Given the description of an element on the screen output the (x, y) to click on. 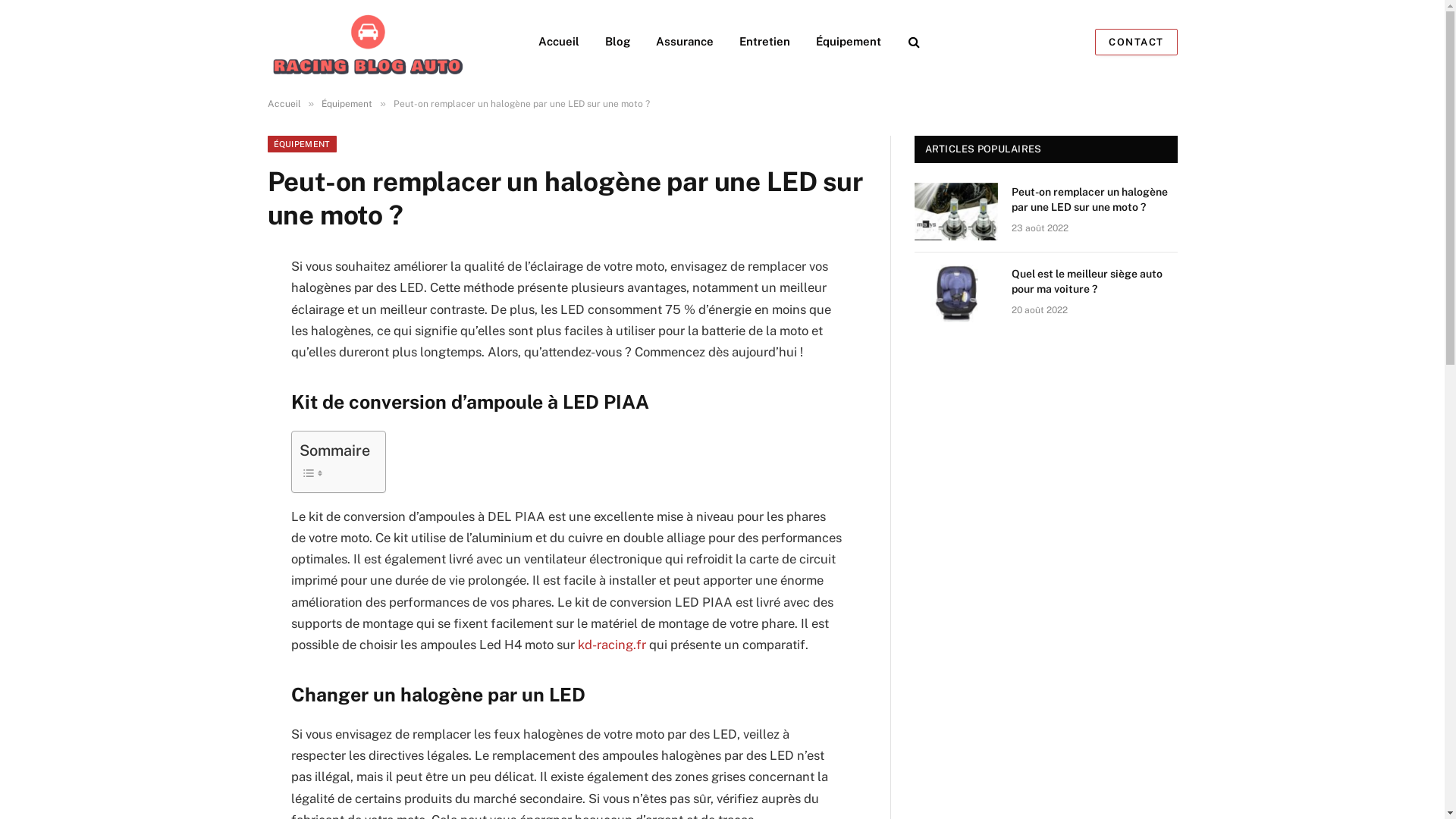
Entretien Element type: text (764, 41)
Assurance Element type: text (684, 41)
Blog Element type: text (616, 41)
Blog auto Element type: hover (367, 41)
Search Element type: hover (912, 41)
kd-racing.fr Element type: text (611, 644)
CONTACT Element type: text (1135, 41)
Accueil Element type: text (283, 103)
Accueil Element type: text (557, 41)
